Given the description of an element on the screen output the (x, y) to click on. 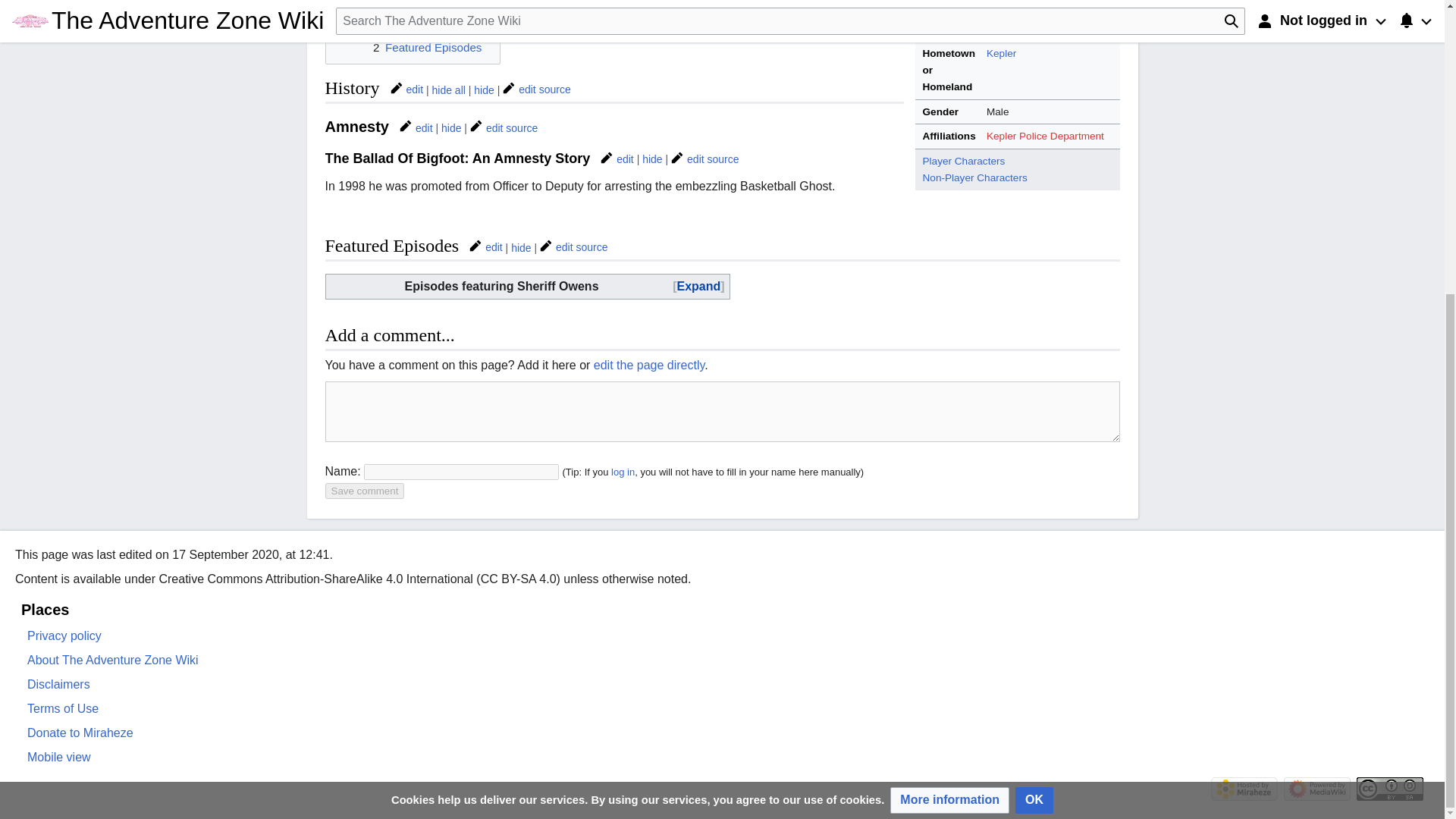
Save comment (364, 490)
